Given the description of an element on the screen output the (x, y) to click on. 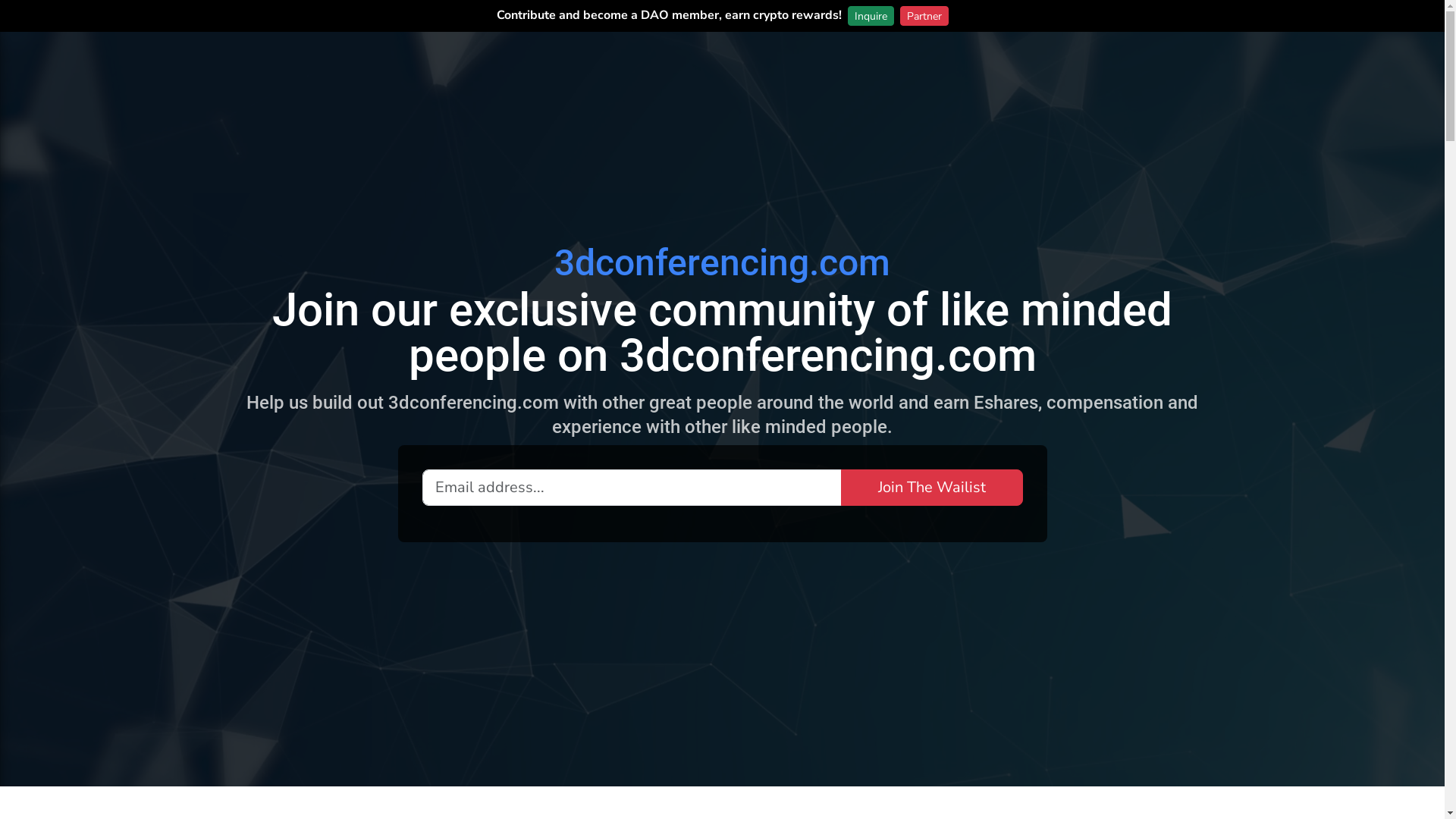
Join The Wailist Element type: text (931, 486)
Inquire Element type: text (870, 15)
Partner Element type: text (923, 15)
